Given the description of an element on the screen output the (x, y) to click on. 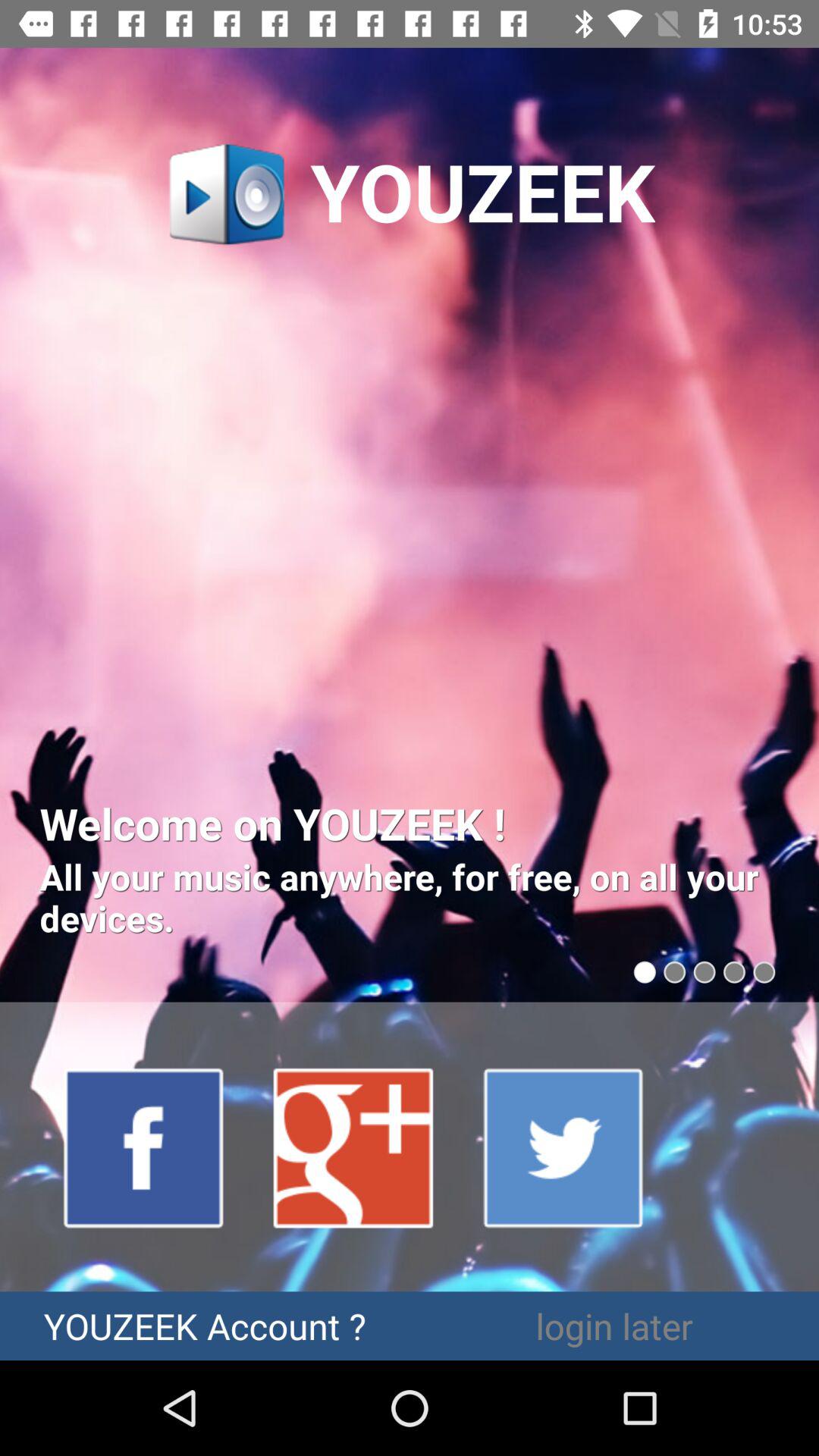
turn off the item above login later (564, 1146)
